Given the description of an element on the screen output the (x, y) to click on. 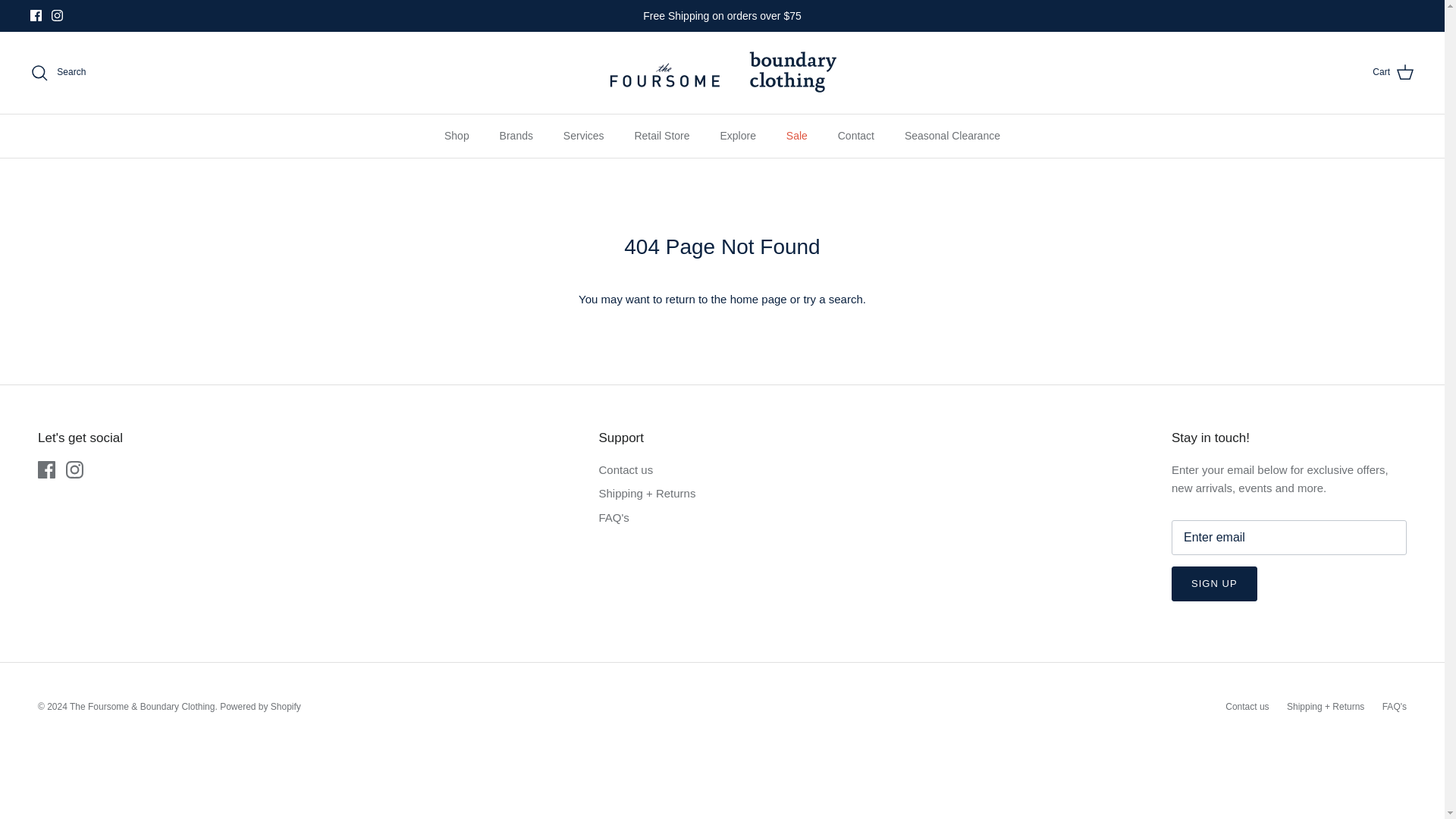
Shop (456, 136)
Cart (1393, 72)
Search (57, 72)
Facebook (46, 469)
Instagram (56, 15)
Instagram (73, 469)
Instagram (56, 15)
Facebook (36, 15)
Facebook (36, 15)
